Given the description of an element on the screen output the (x, y) to click on. 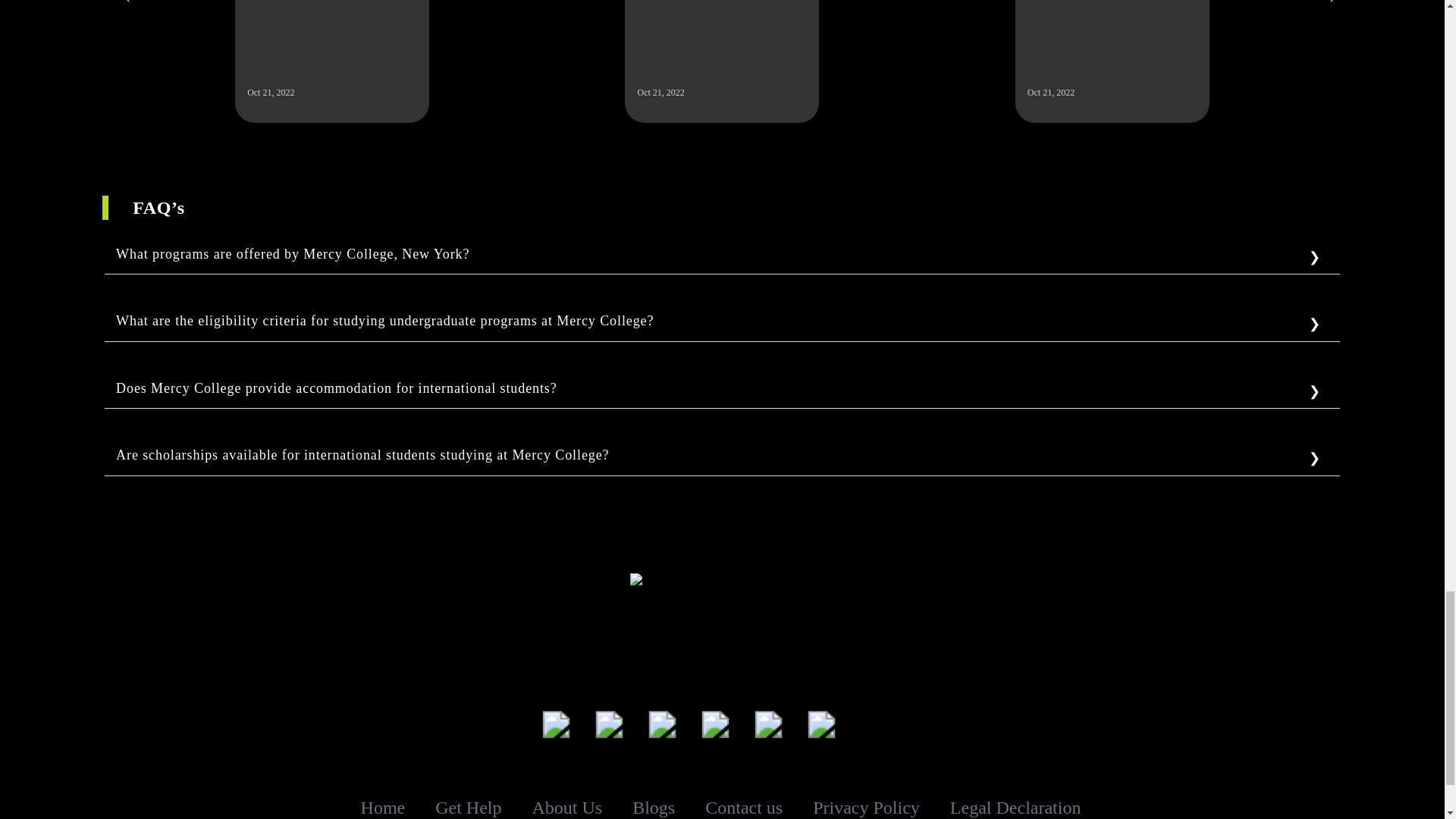
About Us (567, 807)
Get Help (467, 807)
Home (383, 807)
Blogs (653, 807)
Legal Declaration (1015, 806)
Contact us (743, 806)
Privacy Policy (866, 806)
